Given the description of an element on the screen output the (x, y) to click on. 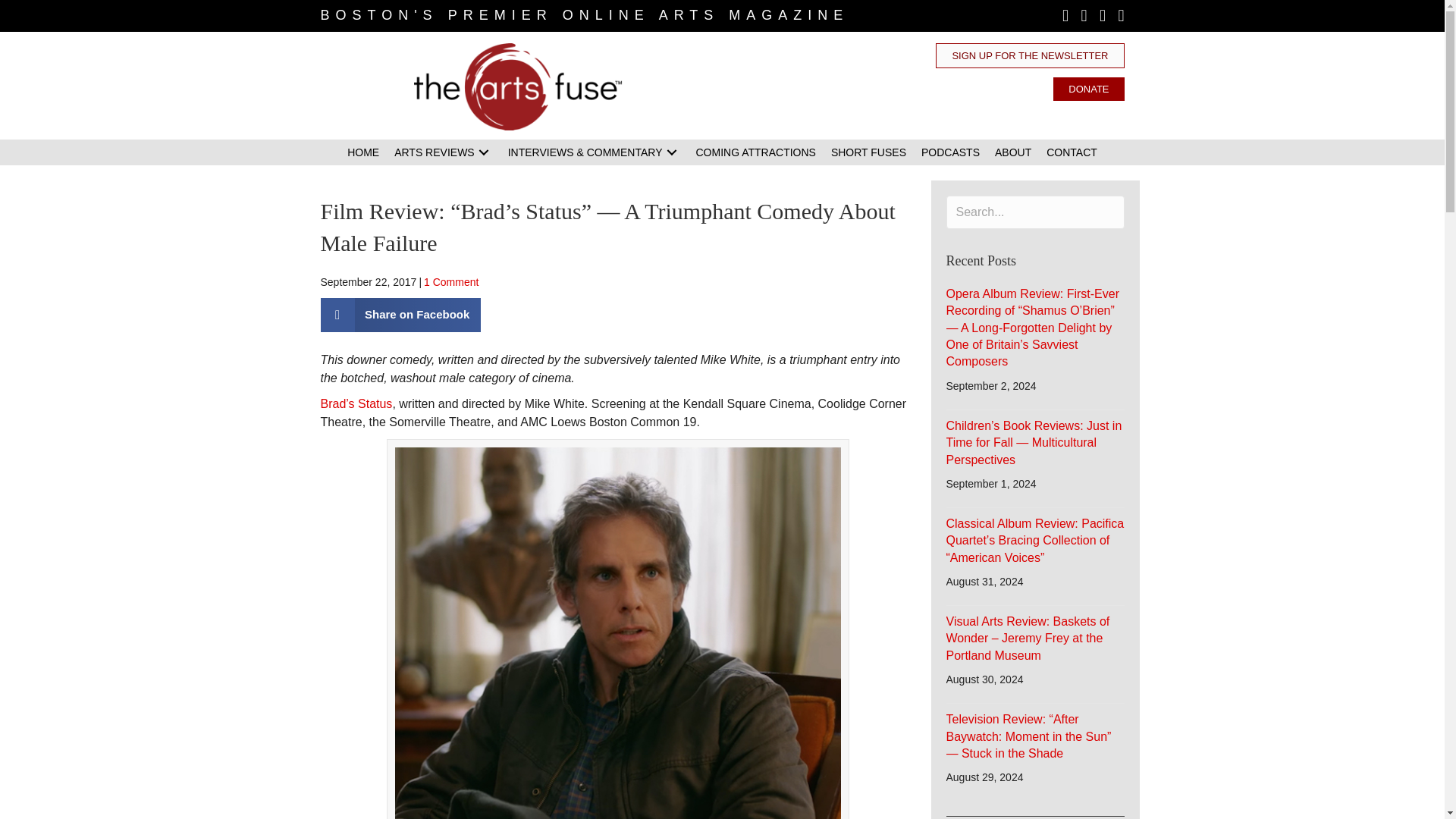
Share on Facebook (400, 315)
PODCASTS (950, 152)
The Arts Fuse logo (518, 86)
DONATE (1088, 88)
1 Comment (451, 282)
ARTS REVIEWS (443, 152)
SHORT FUSES (869, 152)
CONTACT (1072, 152)
HOME (363, 152)
COMING ATTRACTIONS (756, 152)
